Given the description of an element on the screen output the (x, y) to click on. 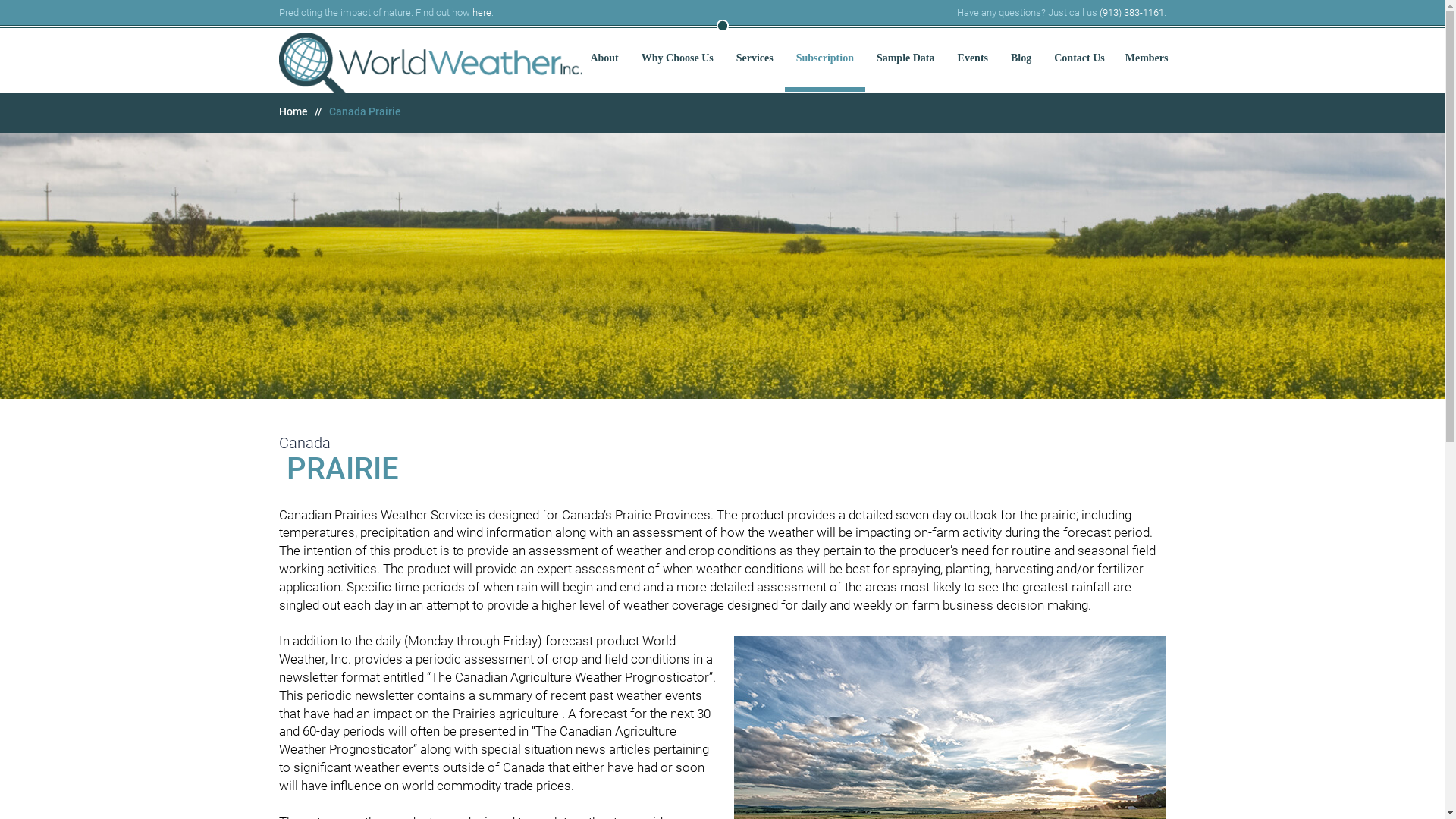
Predicting the impact of nature. Element type: hover (430, 66)
Contact Us Element type: text (1079, 57)
(913) 383-1161 Element type: text (1131, 12)
Subscription Element type: text (824, 57)
Events Element type: text (972, 57)
About Element type: text (603, 57)
Home Element type: text (293, 111)
Services Element type: text (754, 57)
Sample Data Element type: text (905, 57)
Why Choose Us Element type: text (677, 57)
Blog Element type: text (1020, 57)
Members Element type: text (1146, 58)
here Element type: text (480, 12)
